Given the description of an element on the screen output the (x, y) to click on. 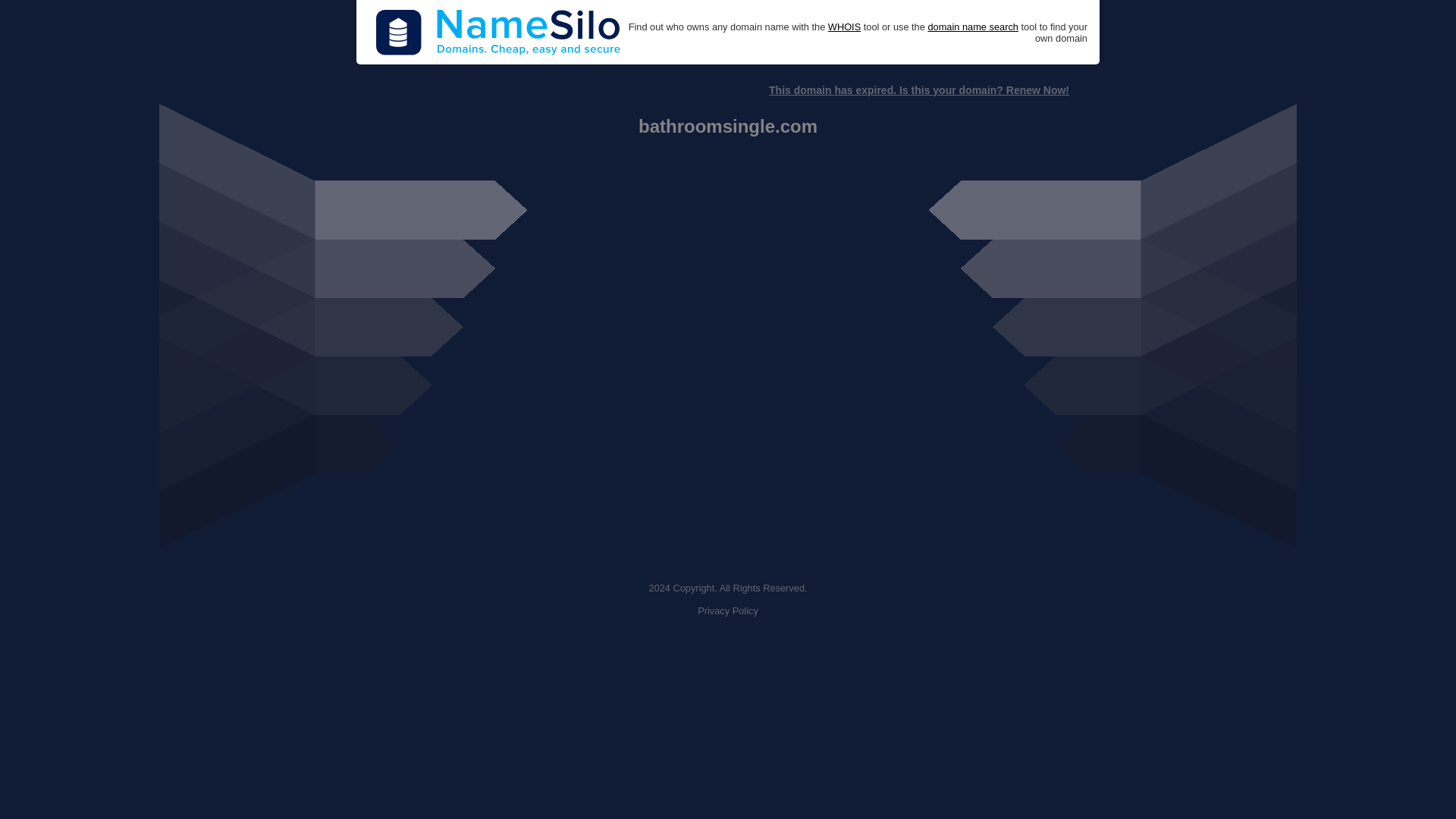
This domain has expired. Is this your domain? Renew Now! (918, 90)
WHOIS (844, 26)
Privacy Policy (727, 610)
domain name search (972, 26)
